Given the description of an element on the screen output the (x, y) to click on. 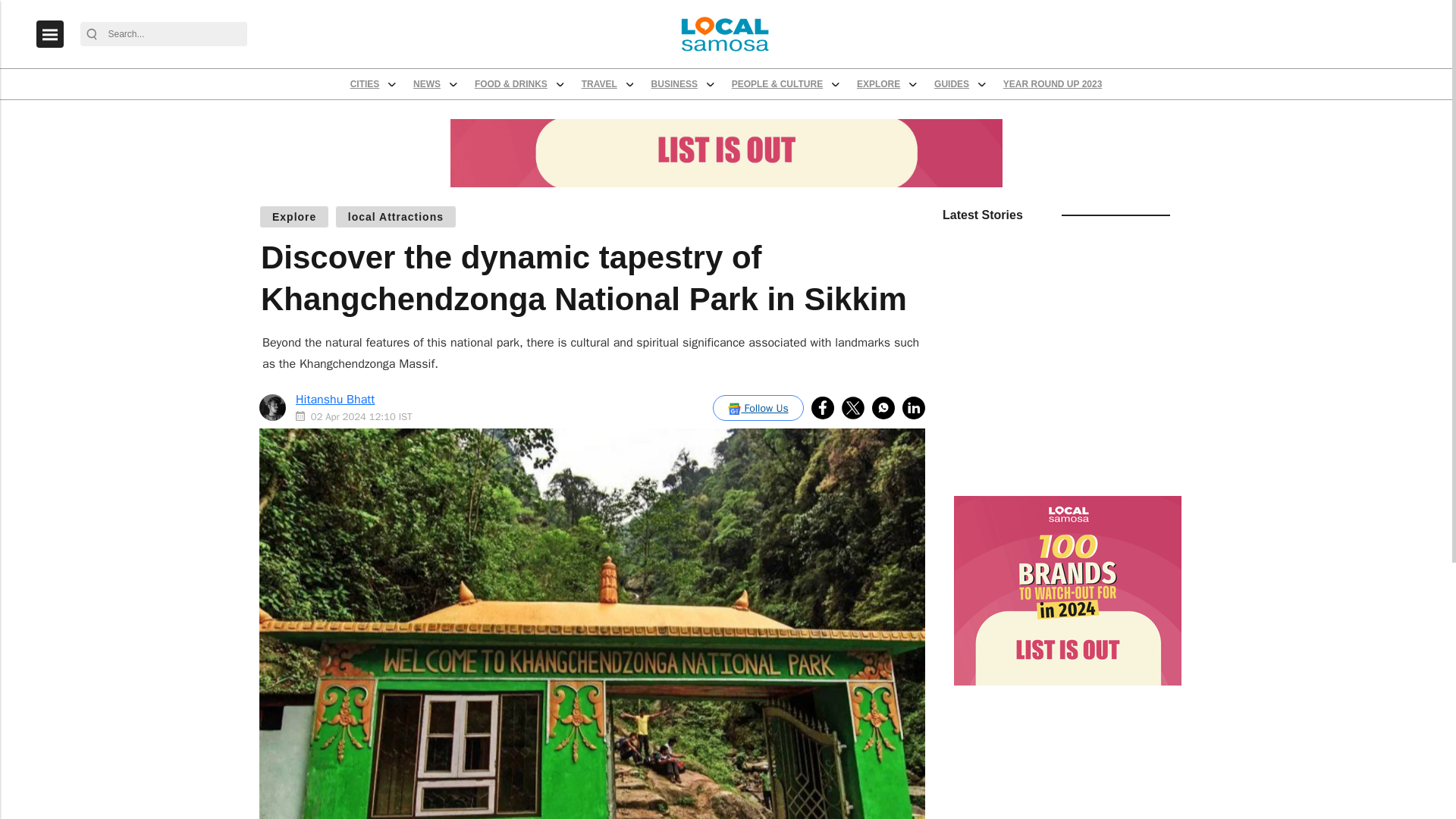
NEWS (533, 105)
TRAVEL (748, 105)
CITIES (455, 105)
